Given the description of an element on the screen output the (x, y) to click on. 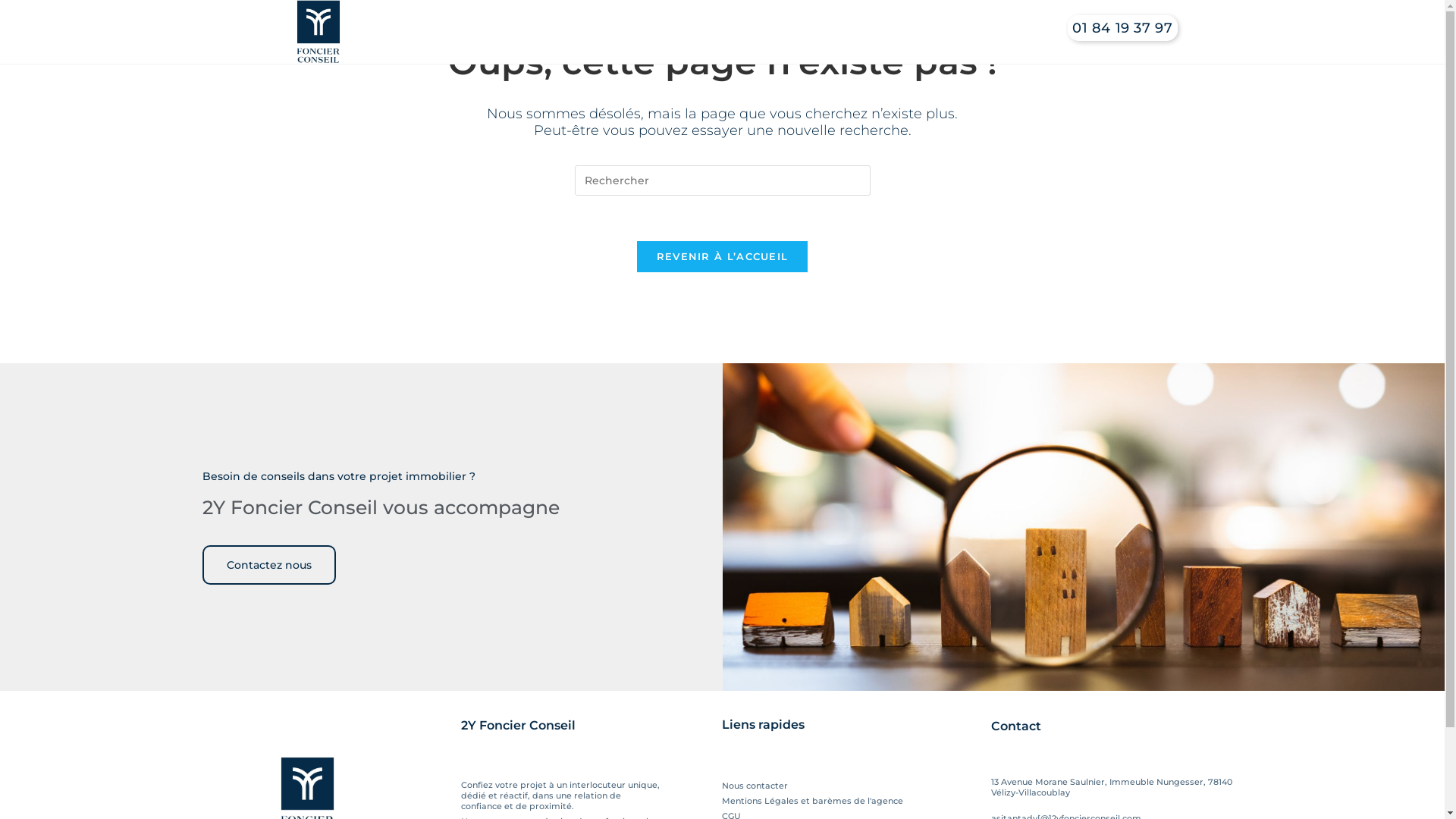
01 84 19 37 97 Element type: text (1133, 28)
Contactez nous Element type: text (268, 564)
